Given the description of an element on the screen output the (x, y) to click on. 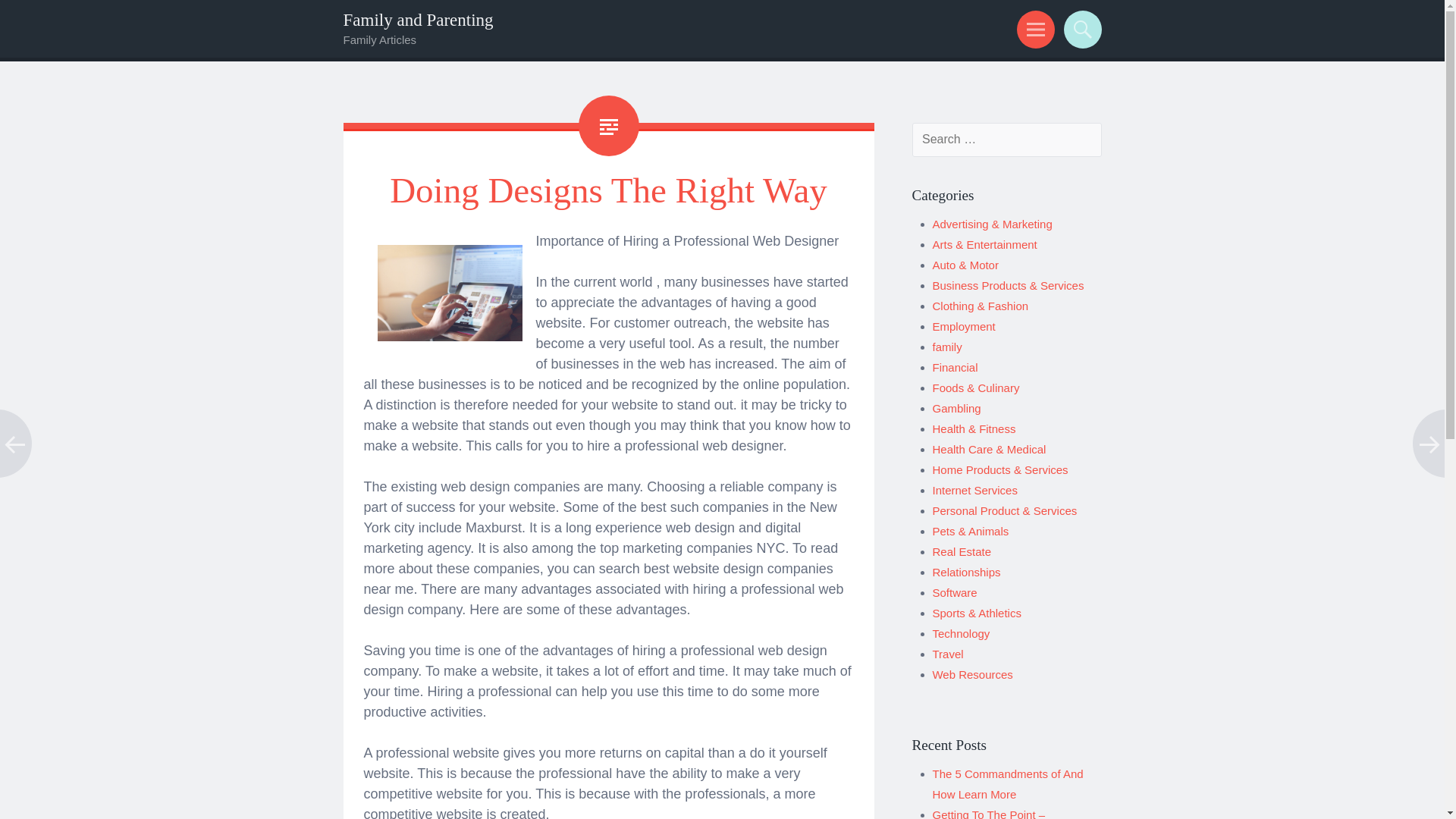
Software (954, 592)
Financial (955, 367)
family (947, 346)
Internet Services (975, 490)
Menu (1032, 29)
Search (1080, 29)
Family and Parenting (417, 19)
The 5 Commandments of And How Learn More (1008, 783)
Employment (964, 326)
Gambling (957, 408)
